Given the description of an element on the screen output the (x, y) to click on. 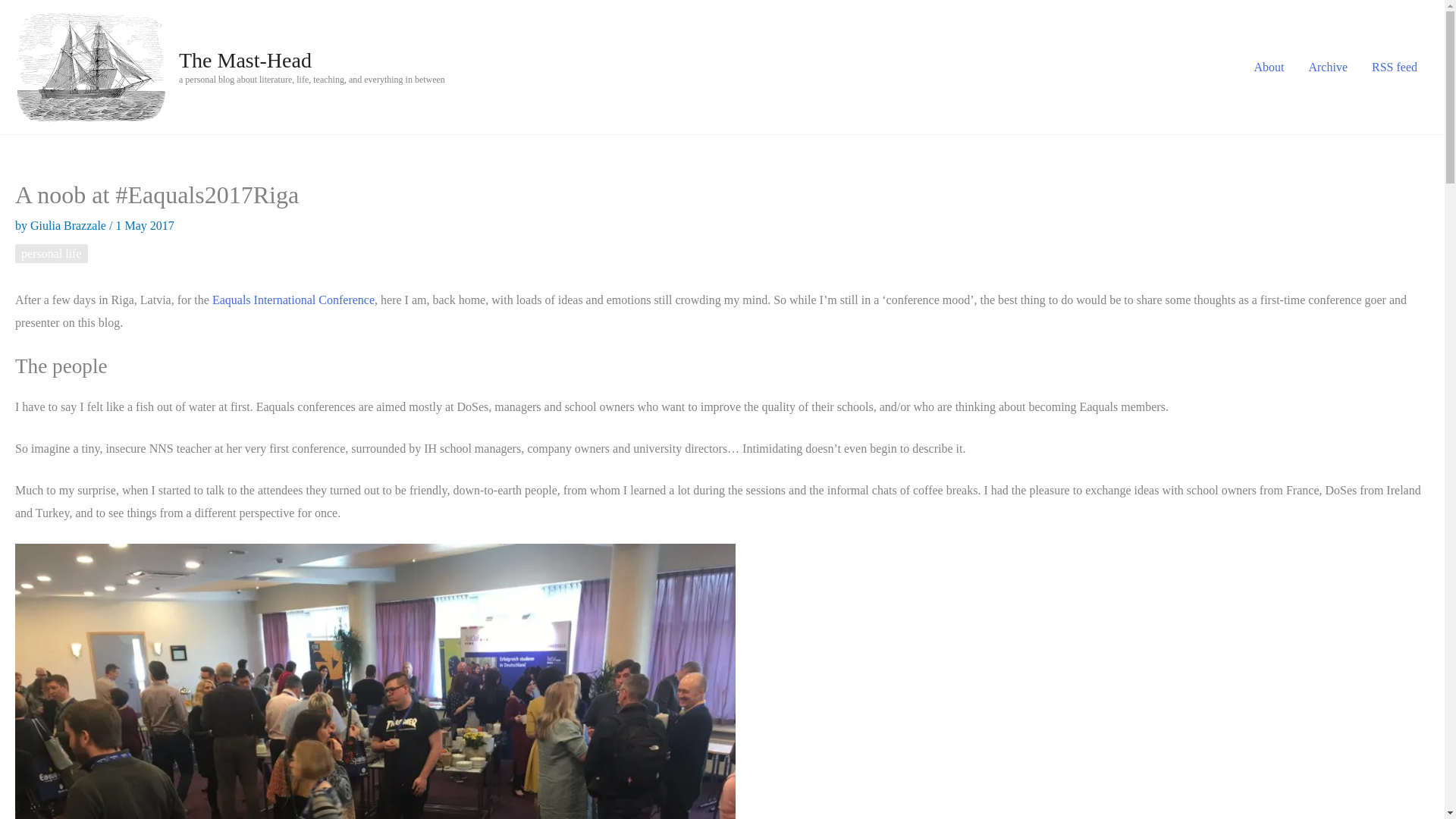
Eaquals International Conference (293, 299)
Archive (1327, 66)
View all posts by Giulia Brazzale (69, 225)
Giulia Brazzale (69, 225)
RSS feed (1394, 66)
About (1268, 66)
personal life (50, 253)
The Mast-Head (245, 60)
